Given the description of an element on the screen output the (x, y) to click on. 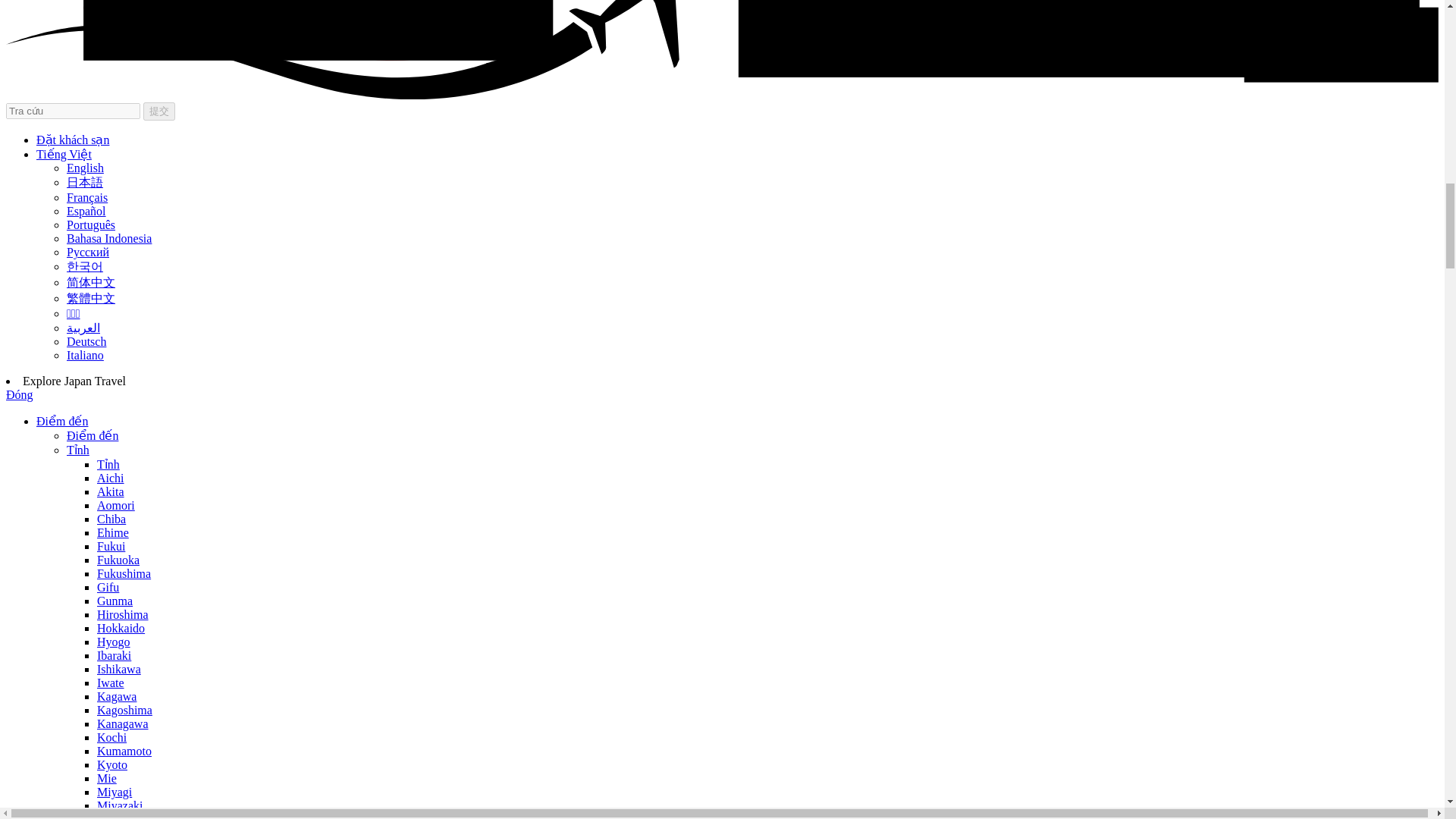
Hokkaido (120, 627)
Aichi (110, 477)
Chiba (111, 518)
Aomori (116, 504)
Bahasa Indonesia (108, 237)
English (84, 167)
Italiano (84, 354)
Hyogo (114, 641)
Gunma (114, 600)
